Given the description of an element on the screen output the (x, y) to click on. 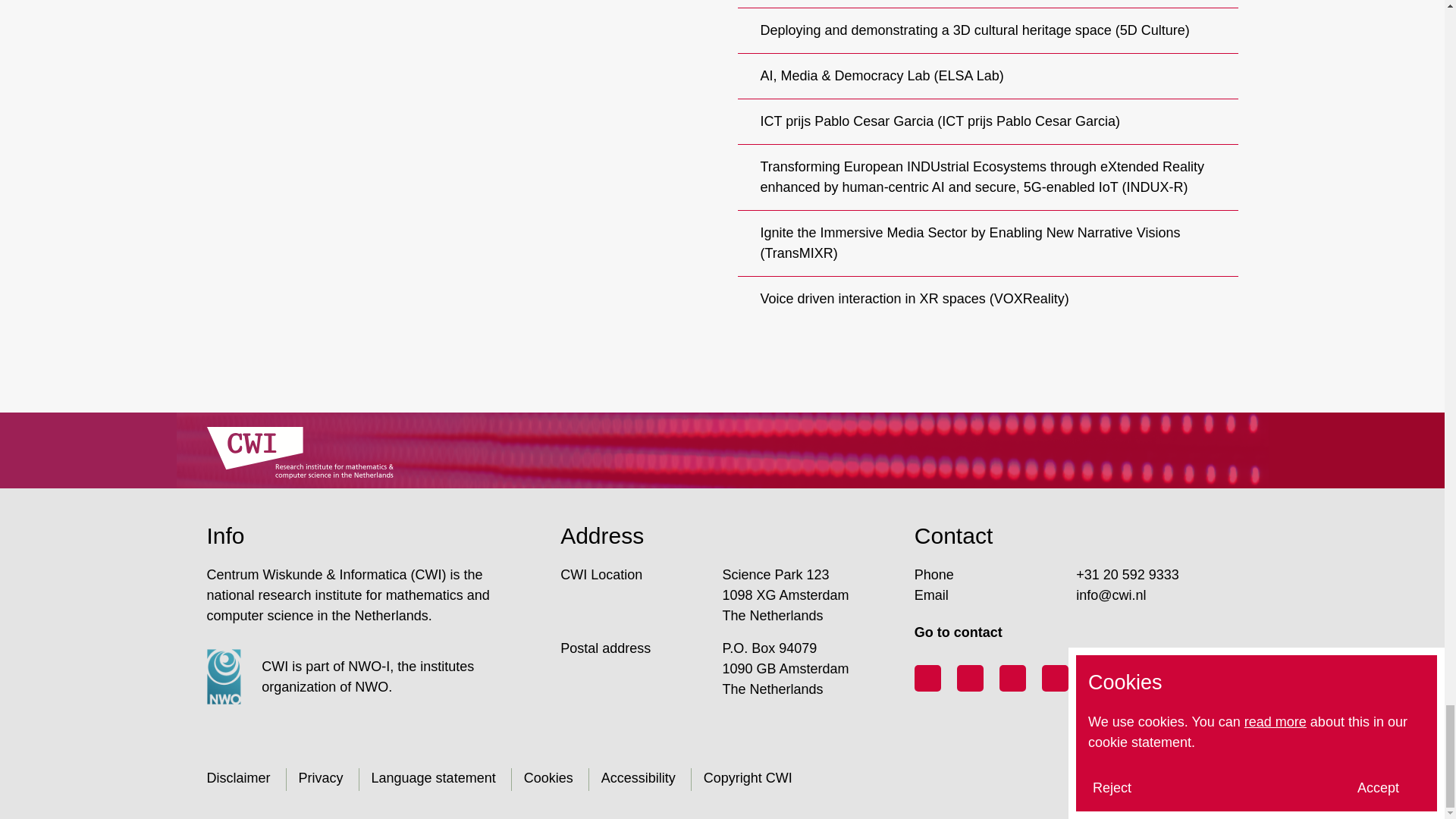
CWI Youtube (1012, 678)
CWI Instagram (1055, 678)
CWI LinkedIn (970, 678)
